Given the description of an element on the screen output the (x, y) to click on. 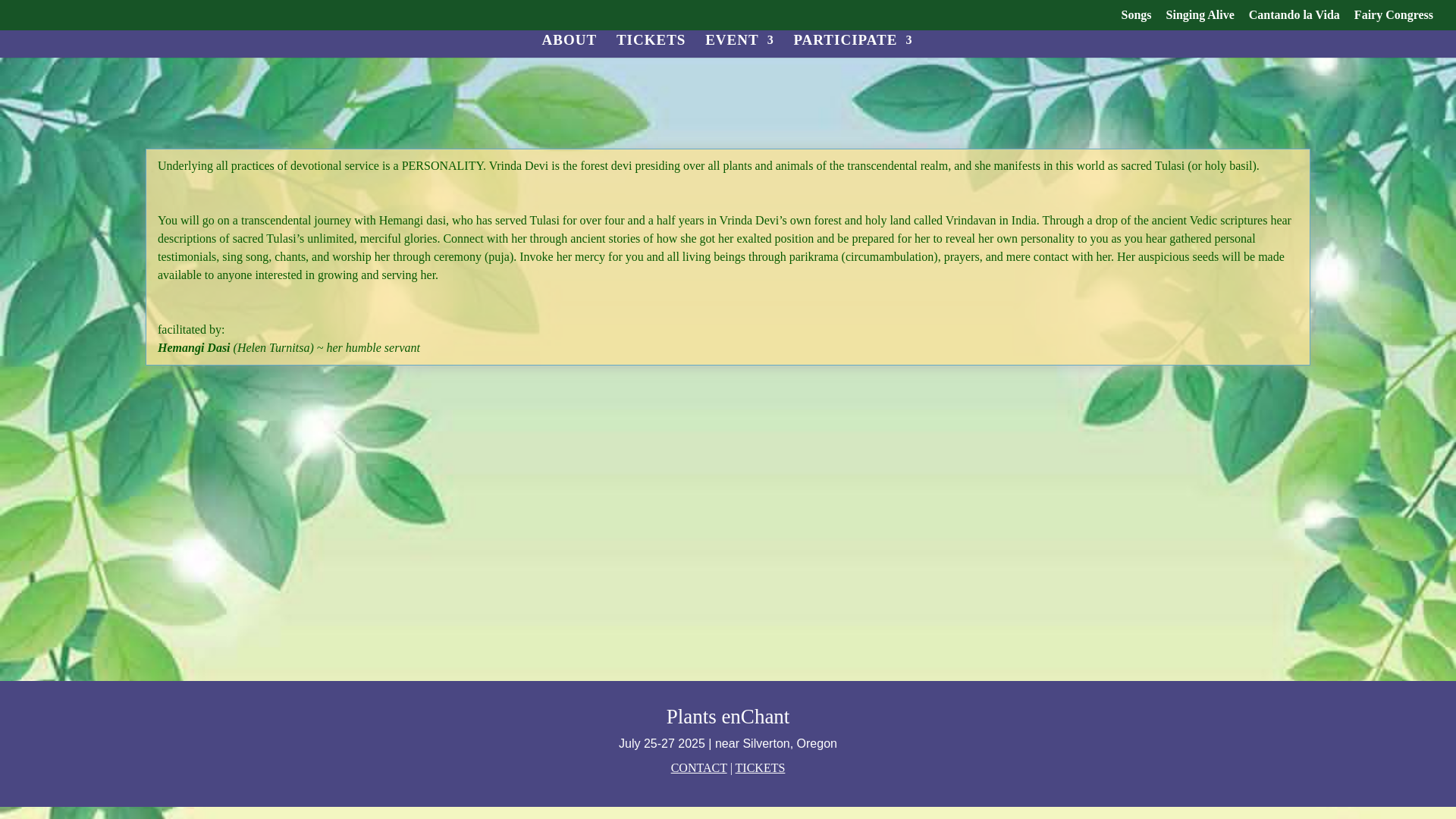
TICKETS (650, 46)
PARTICIPATE (852, 46)
Singing Alive (1200, 19)
EVENT (738, 46)
Cantando la Vida (1294, 19)
Songs (1136, 19)
Fairy Congress (1393, 19)
ABOUT (568, 46)
